Given the description of an element on the screen output the (x, y) to click on. 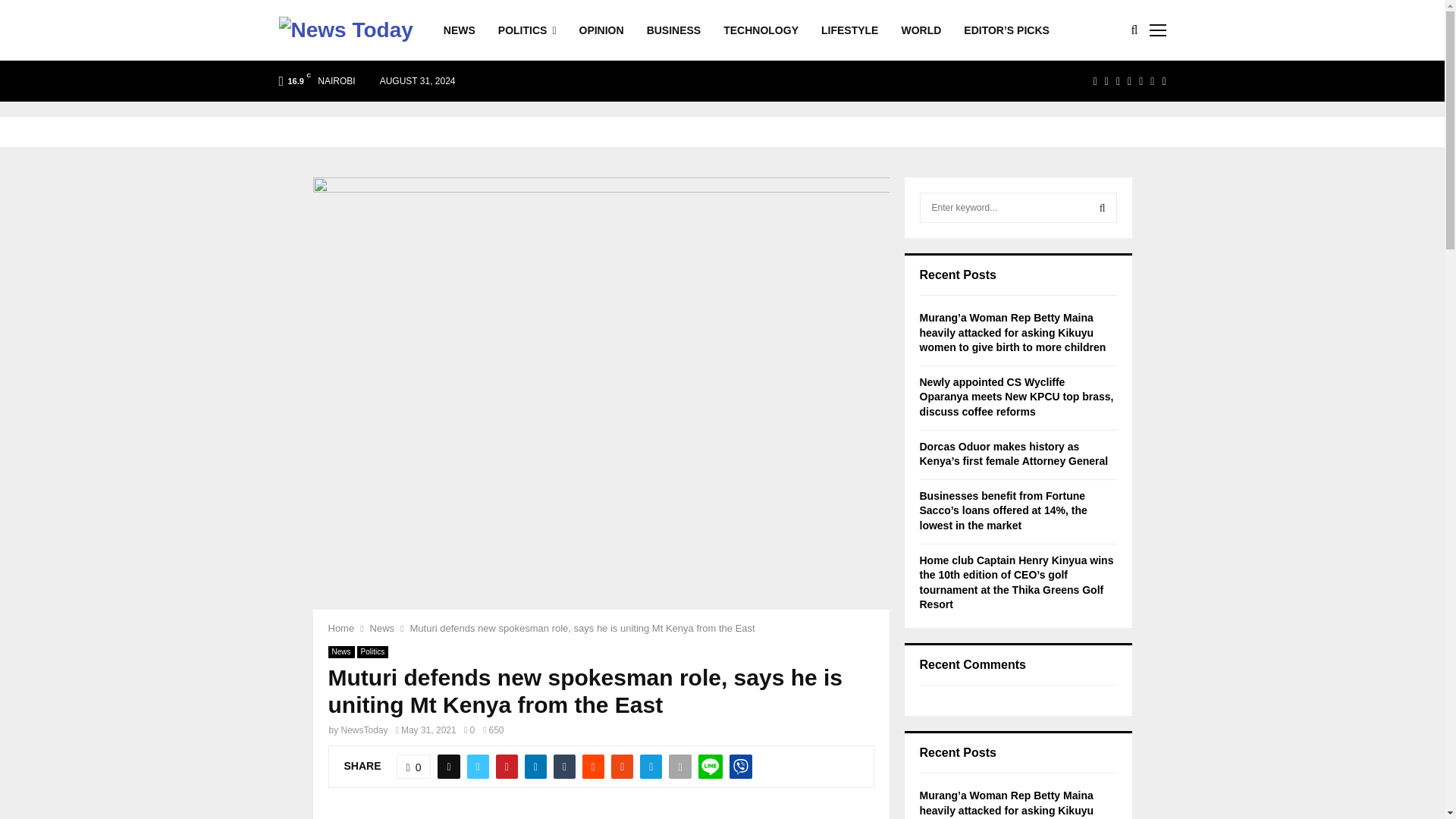
LIFESTYLE (849, 30)
POLITICS (526, 30)
TECHNOLOGY (760, 30)
BUSINESS (673, 30)
Like (413, 766)
